Given the description of an element on the screen output the (x, y) to click on. 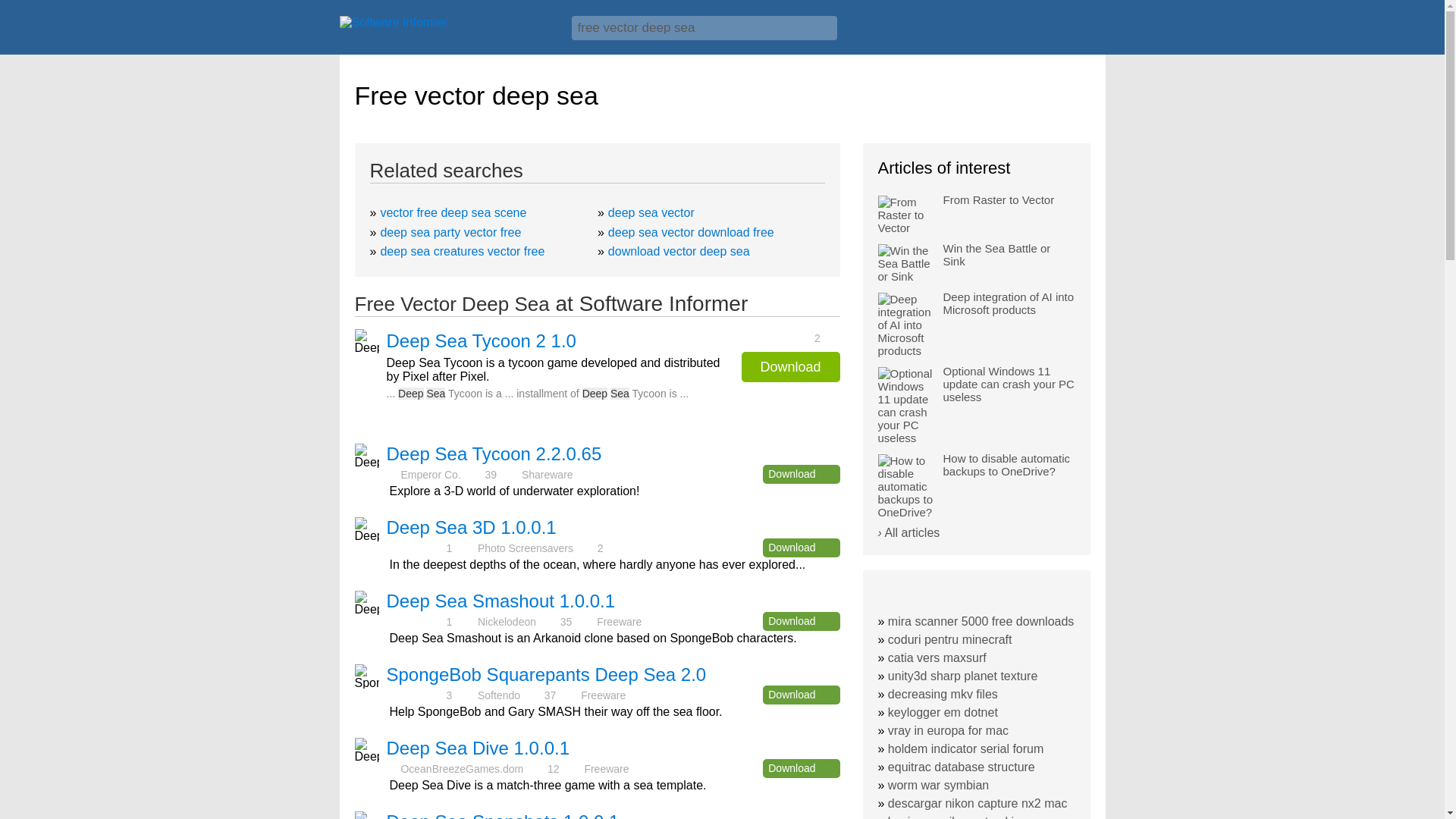
Deep Sea 3D 1.0.0.1 (471, 526)
Download (801, 694)
Download (801, 768)
Deep Sea Smashout 1.0.0.1 (501, 600)
Deep Sea Tycoon 2 1.0 (481, 340)
download vector deep sea (678, 250)
Deep Sea Tycoon 2.2.0.65 (494, 453)
4.7 (415, 695)
Deep Sea 3D 1.0.0.1 (471, 526)
Deep Sea Tycoon 2 1.0 (481, 340)
Deep Sea Dive 1.0.0.1 (478, 747)
Software downloads and reviews (446, 25)
deep sea creatures vector free (462, 250)
Deep Sea Smashout 1.0.0.1 (501, 600)
Deep Sea Tycoon 2.2.0.65 (494, 453)
